Given the description of an element on the screen output the (x, y) to click on. 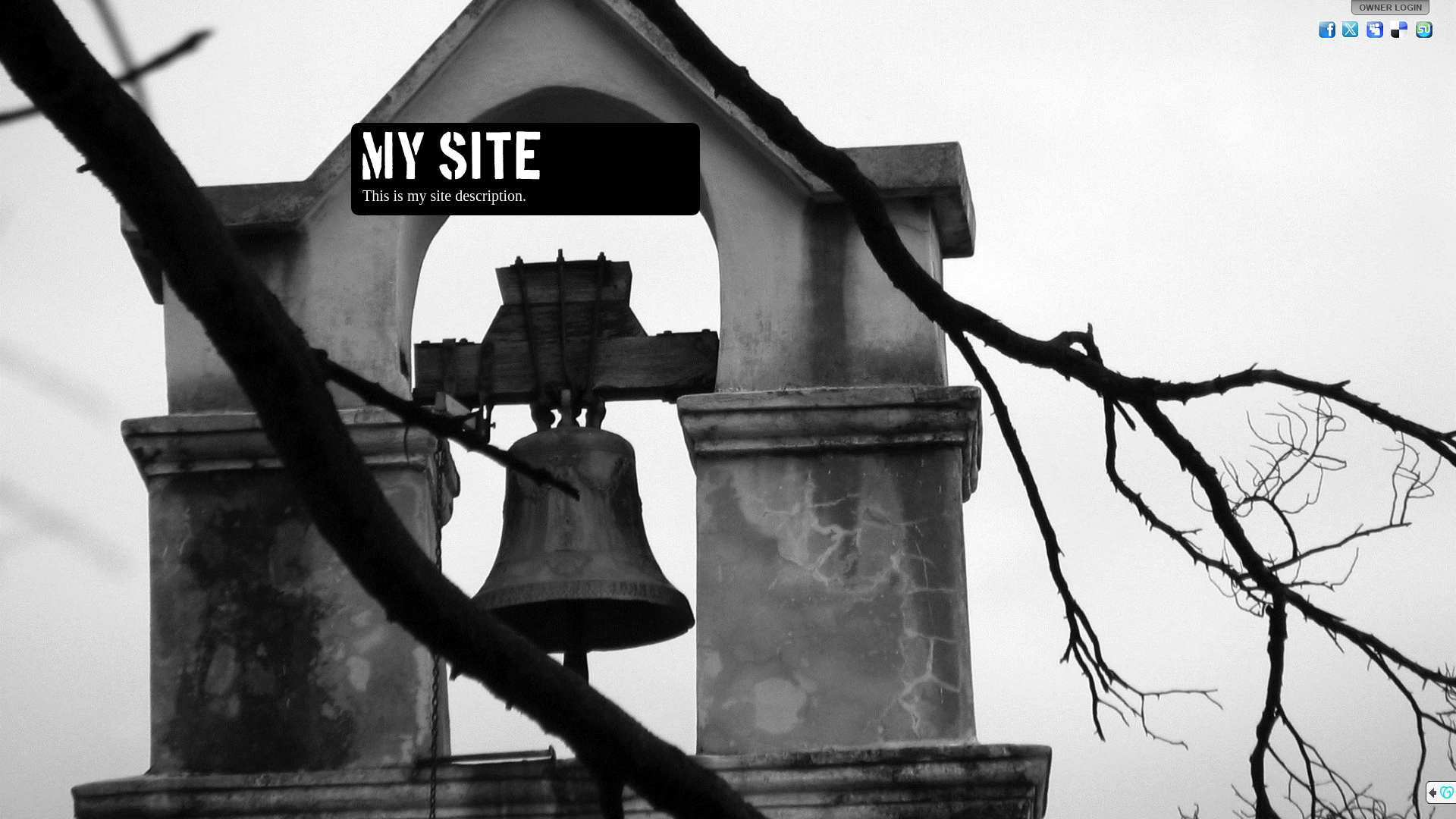
Del.icio.us Element type: text (1399, 29)
Twitter Element type: text (1350, 29)
StumbleUpon Element type: text (1423, 29)
MySpace Element type: text (1375, 29)
Facebook Element type: text (1326, 29)
